Given the description of an element on the screen output the (x, y) to click on. 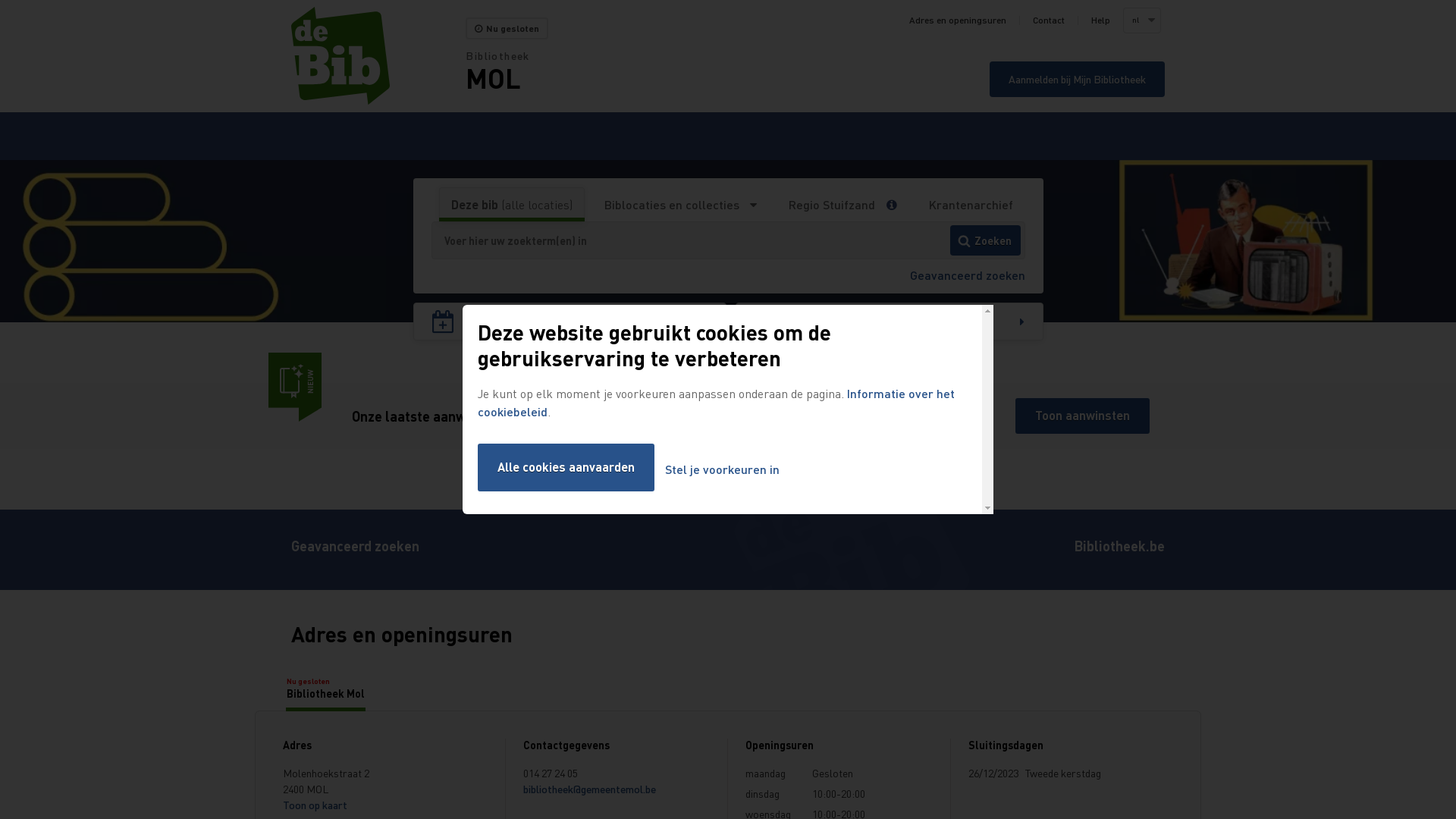
Toon op kaart Element type: text (314, 804)
Alle cookies aanvaarden Element type: text (565, 466)
bibliotheek@gemeentemol.be Element type: text (589, 788)
Uitleentermijn verlengen Element type: text (569, 321)
Stel je voorkeuren in Element type: text (722, 469)
Zoeken Element type: text (985, 240)
Biblocaties en collecties Element type: text (680, 204)
Contact Element type: text (1048, 20)
Regio Stuifzand Element type: text (830, 204)
Home Element type: hover (378, 55)
Meer informatie Element type: hover (896, 204)
Deze bib (alle locaties) Element type: text (511, 204)
Nu gesloten
Bibliotheek Mol Element type: text (325, 687)
Geavanceerd zoeken Element type: text (967, 274)
Geavanceerd zoeken Element type: text (355, 549)
Krantenarchief Element type: text (970, 204)
Bibliotheek.be Element type: text (1119, 549)
Openingsuren opzoeken Element type: text (889, 321)
Adres en openingsuren Element type: text (957, 20)
Aanmelden bij Mijn Bibliotheek Element type: text (1076, 79)
Nu gesloten Element type: text (506, 28)
Informatie over het cookiebeleid Element type: text (715, 402)
Help Element type: text (1100, 20)
Toon aanwinsten Element type: text (1082, 415)
nl Element type: text (1140, 20)
Overslaan en naar zoeken gaan Element type: text (0, 0)
